Given the description of an element on the screen output the (x, y) to click on. 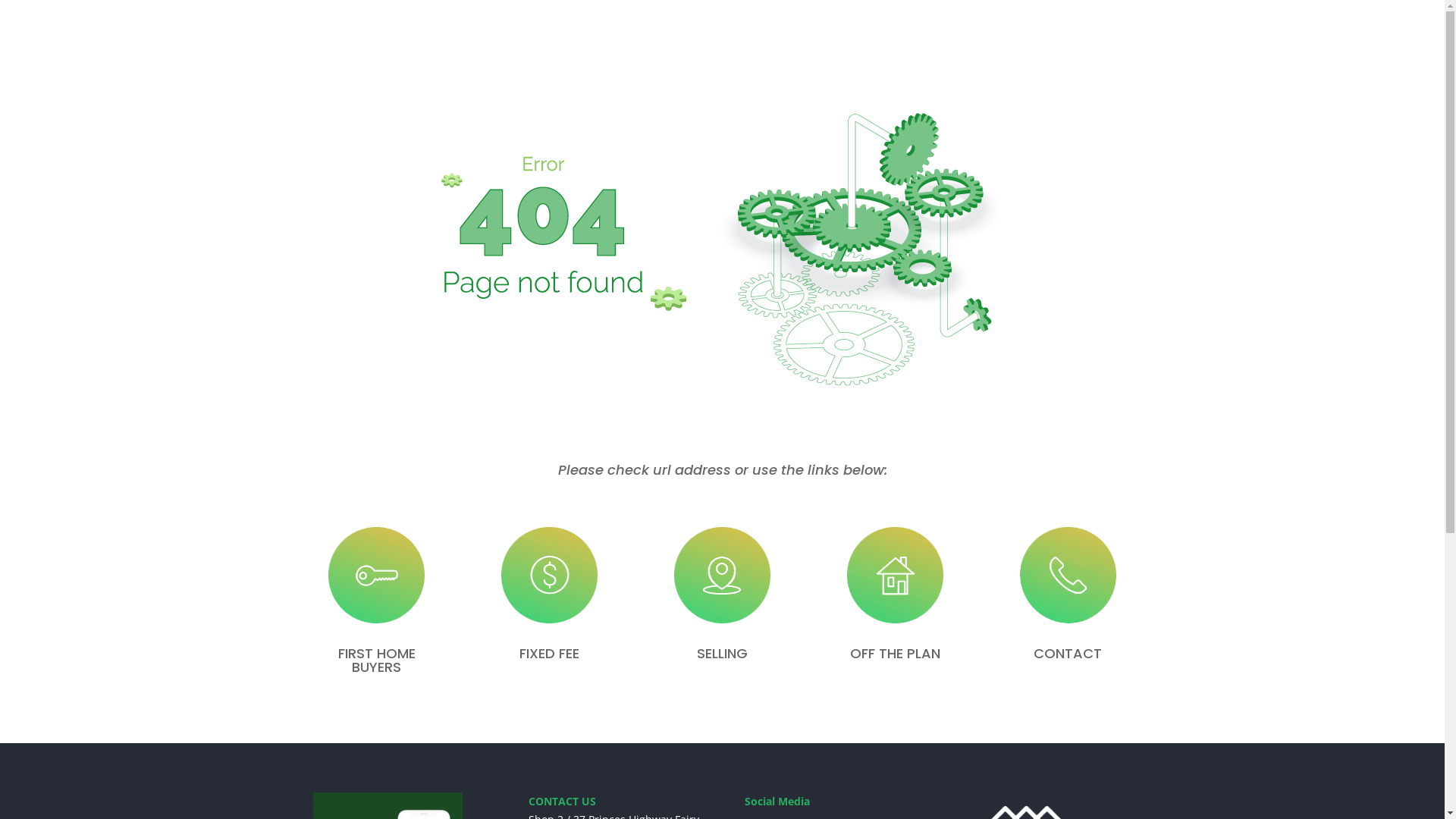
error-404---CS Element type: hover (722, 250)
CS-icon-selling-hover Element type: hover (549, 574)
CS-icon-selling-selling-hover Element type: hover (721, 574)
CS-icon-contact Element type: hover (1067, 574)
CS-icon-off-the-plan-hover Element type: hover (894, 574)
CS-icon-first-home-buyer-hover Element type: hover (376, 574)
